Given the description of an element on the screen output the (x, y) to click on. 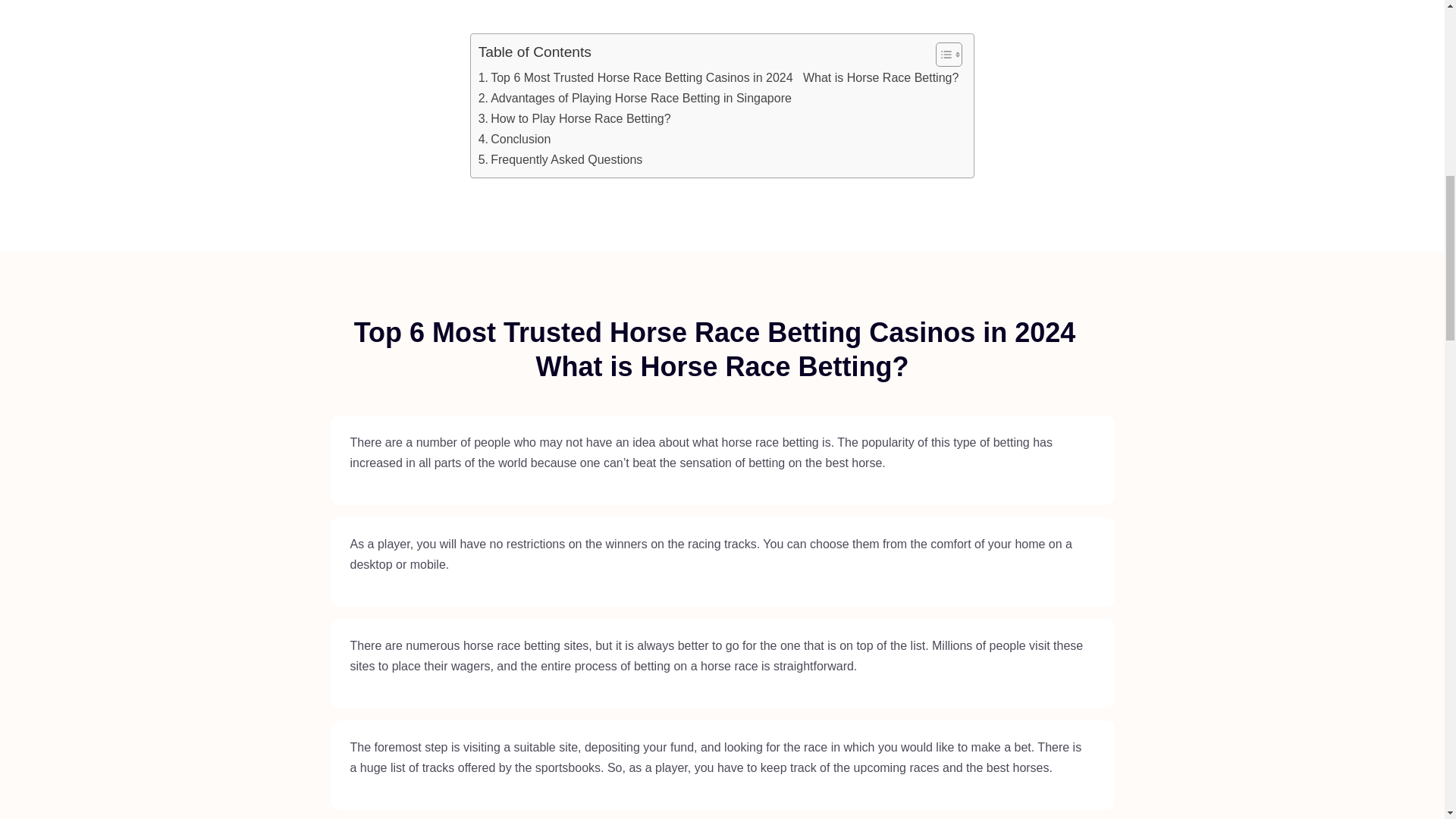
Frequently Asked Questions (561, 159)
Advantages of Playing Horse Race Betting in Singapore (635, 97)
Conclusion (515, 138)
How to Play Horse Race Betting? (575, 118)
